Given the description of an element on the screen output the (x, y) to click on. 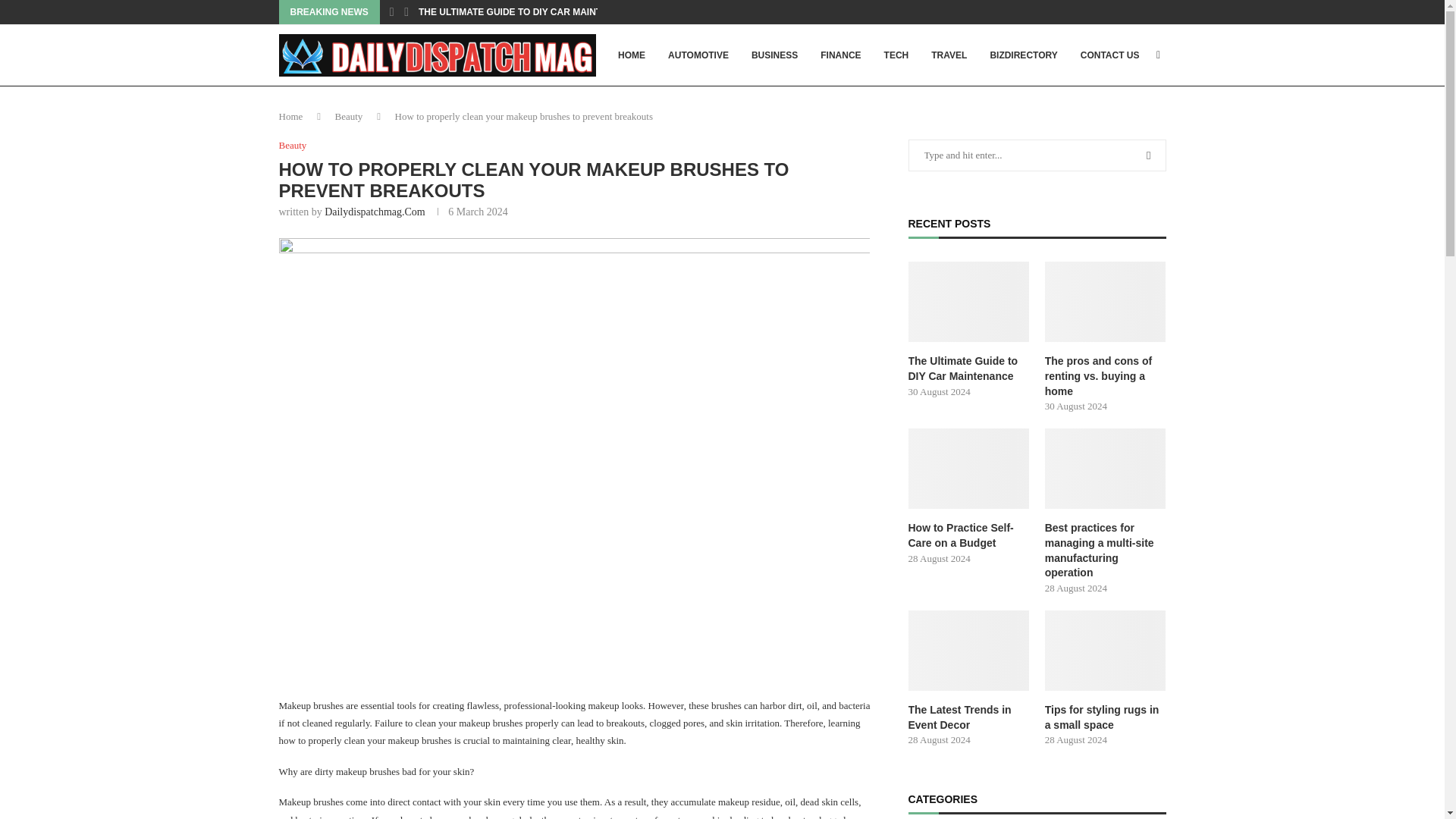
BIZDIRECTORY (1023, 55)
Beauty (293, 145)
THE ULTIMATE GUIDE TO DIY CAR MAINTENANCE (529, 12)
CONTACT US (1110, 55)
AUTOMOTIVE (698, 55)
The Ultimate Guide to DIY Car Maintenance (968, 368)
The Ultimate Guide to DIY Car Maintenance (968, 302)
Dailydispatchmag.Com (374, 211)
Home (290, 116)
